Given the description of an element on the screen output the (x, y) to click on. 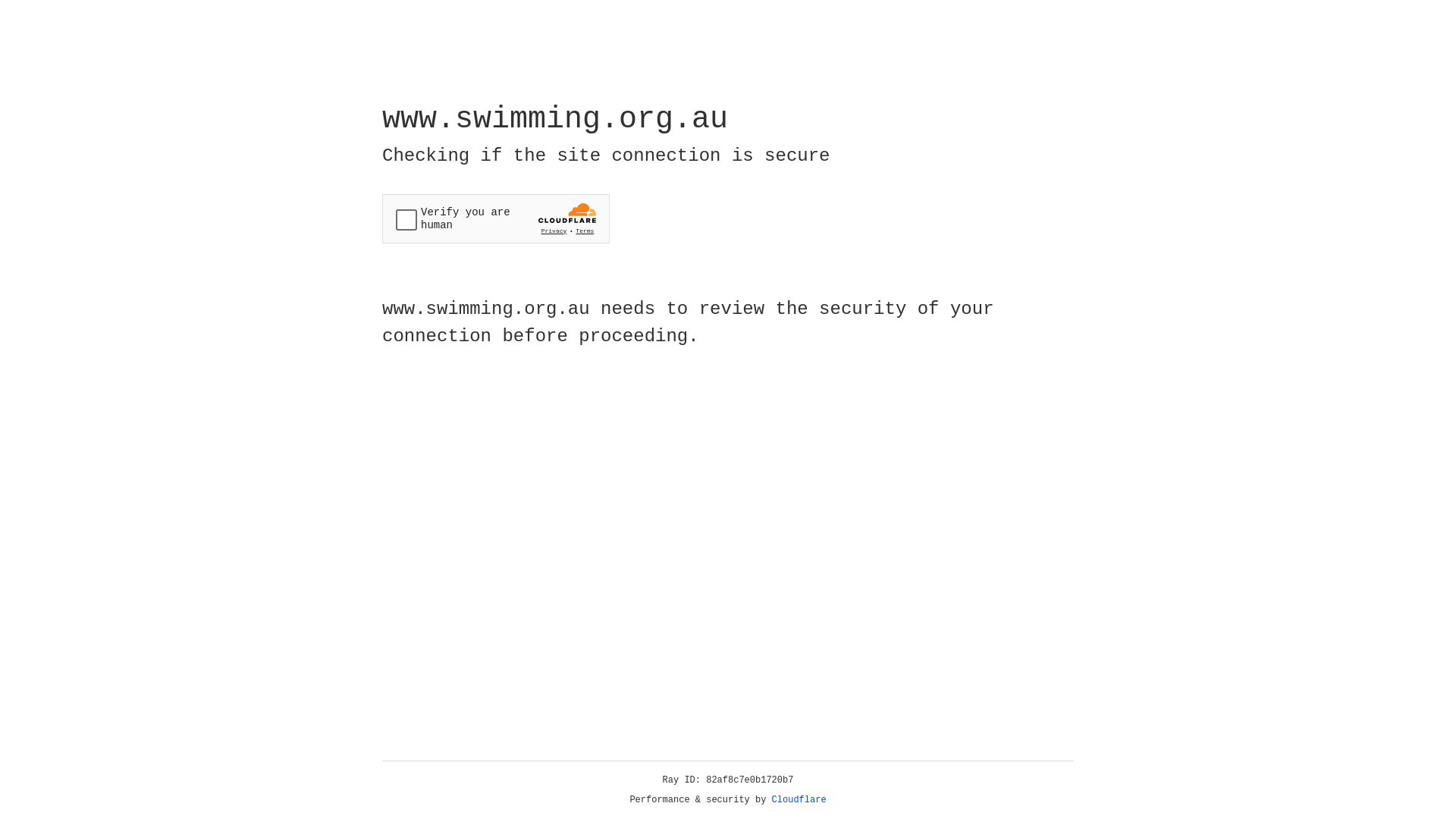
Widget containing a Cloudflare security challenge Element type: hover (495, 218)
Cloudflare Element type: text (798, 799)
